Given the description of an element on the screen output the (x, y) to click on. 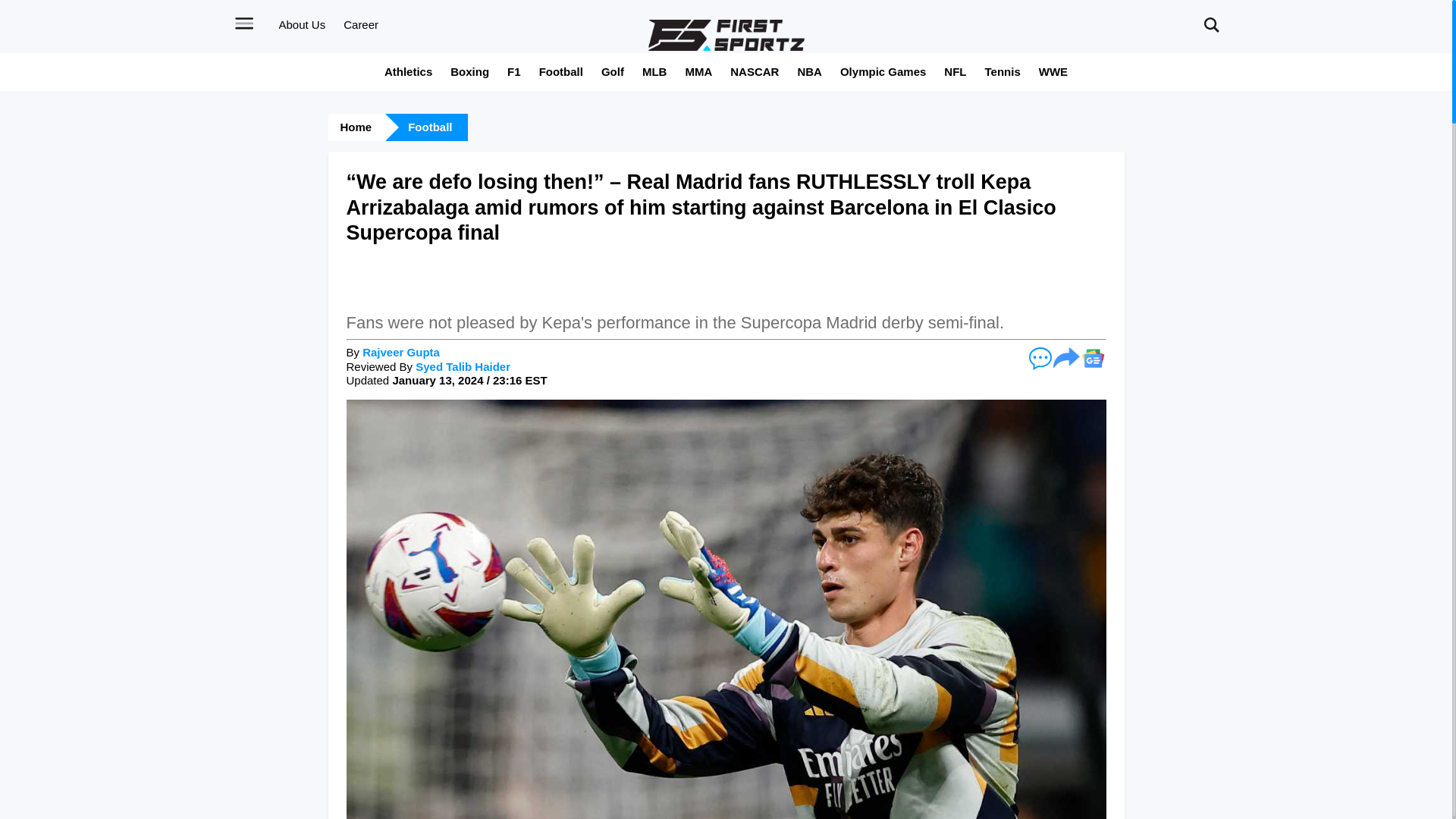
NFL (954, 71)
NBA (809, 71)
Golf (612, 71)
Boxing (469, 71)
WWE (1053, 71)
About Us (302, 24)
F1 (513, 71)
MLB (654, 71)
Tennis (1002, 71)
Football (560, 71)
